Given the description of an element on the screen output the (x, y) to click on. 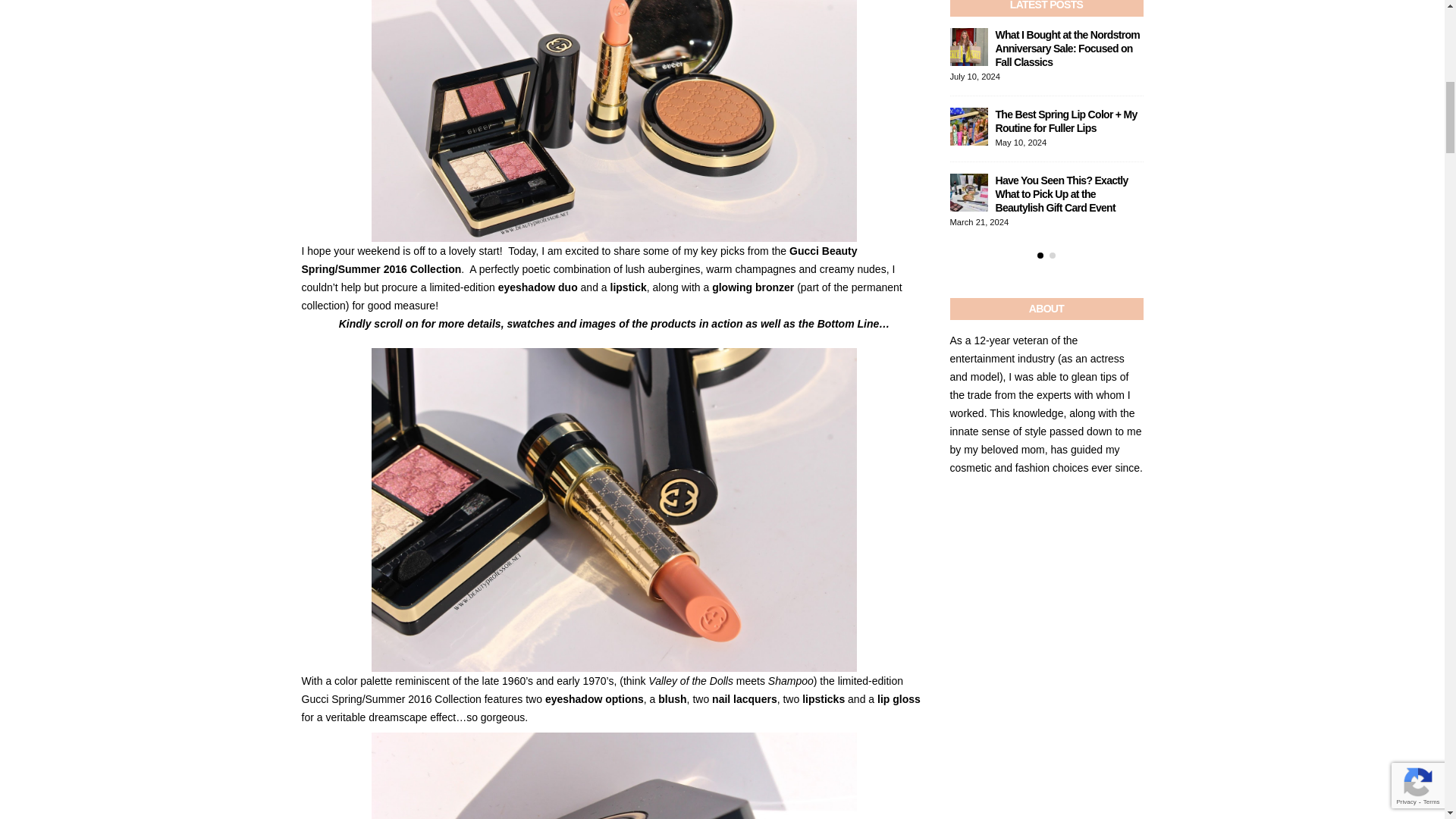
gucci eyeshadow duo primrose swatches (614, 775)
